Given the description of an element on the screen output the (x, y) to click on. 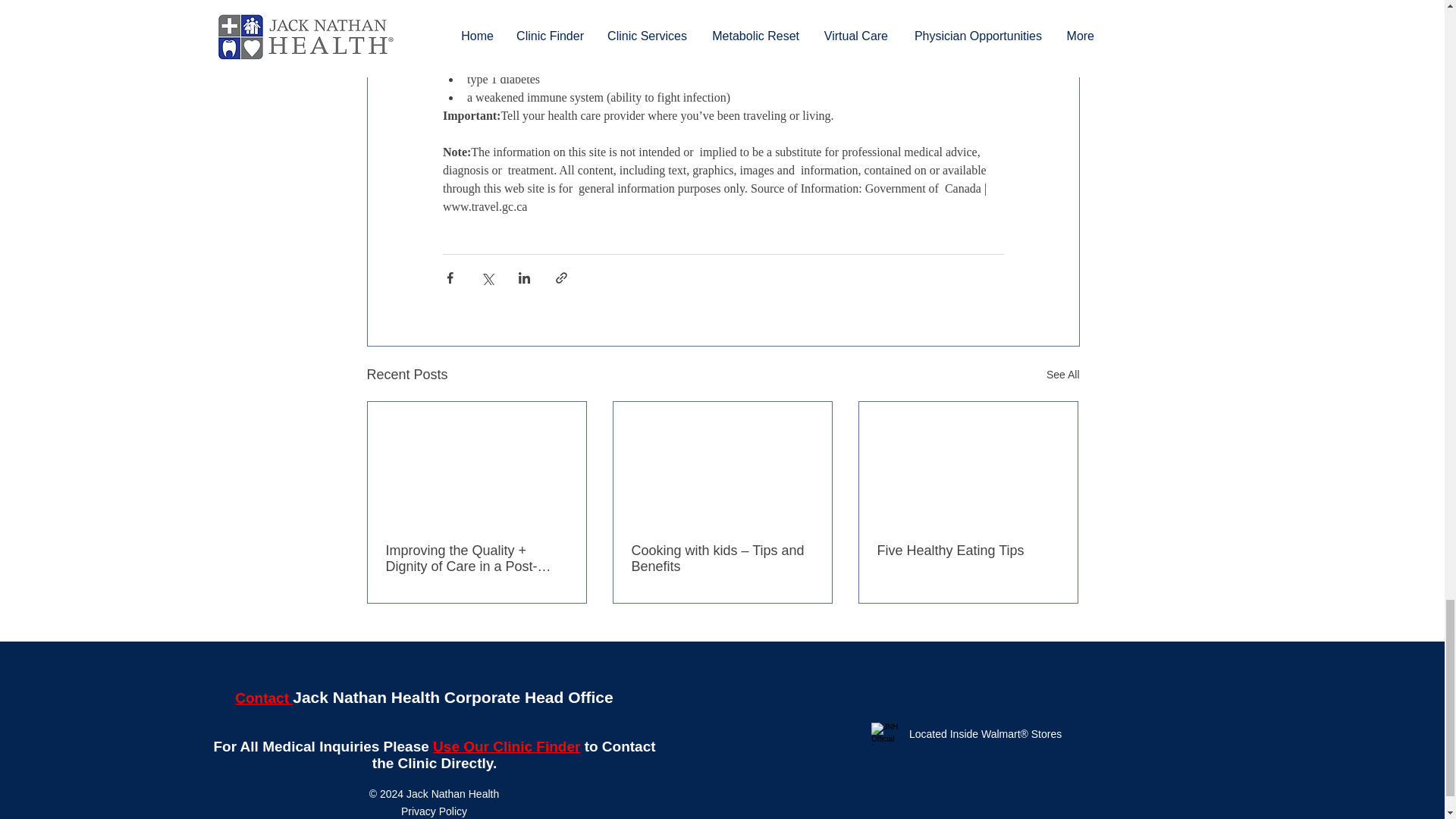
See All (1063, 374)
Five Healthy Eating Tips (967, 550)
